Given the description of an element on the screen output the (x, y) to click on. 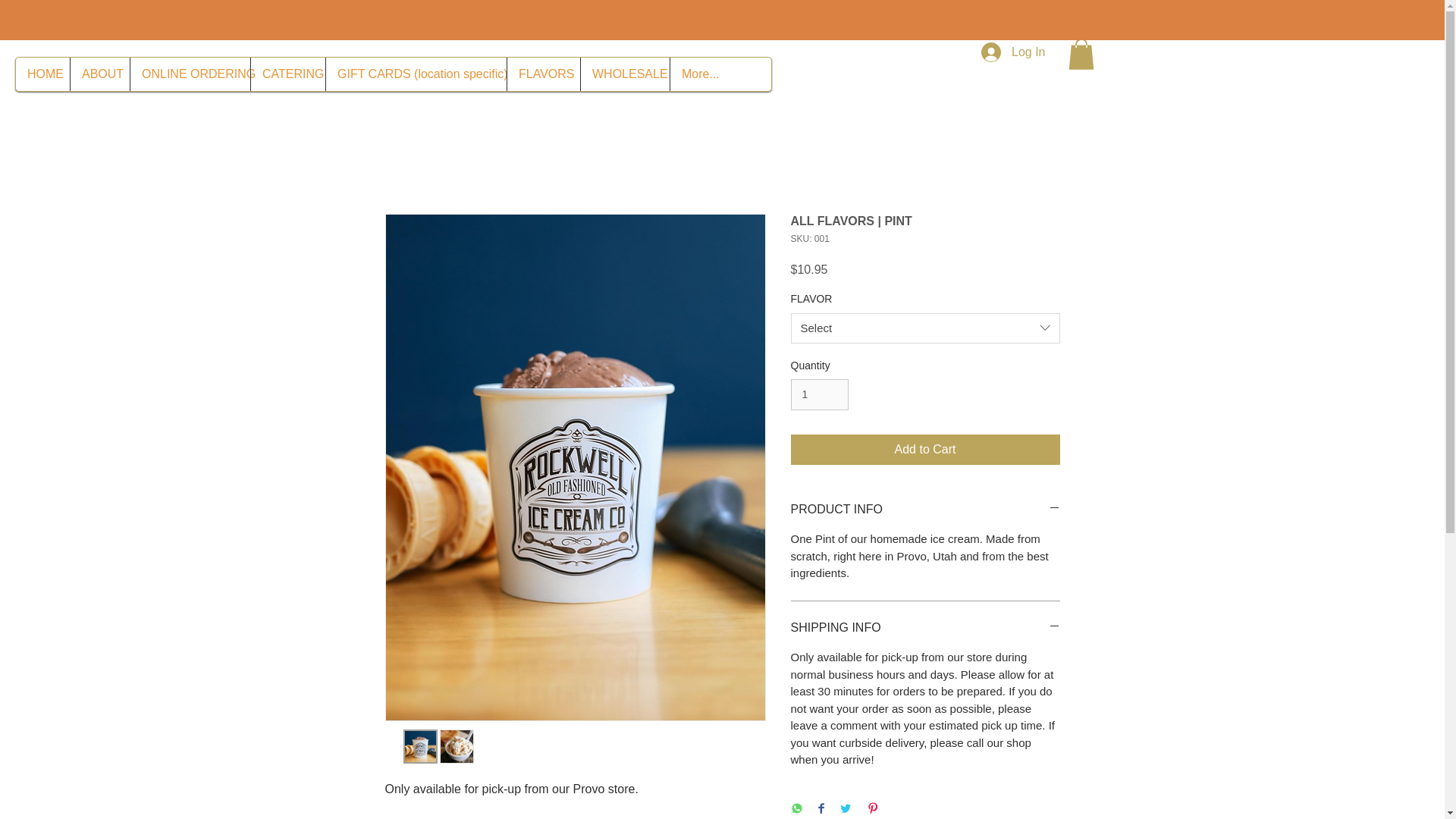
ONLINE ORDERING (189, 73)
1 (818, 394)
Add to Cart (924, 449)
FLAVORS (542, 73)
Select (924, 327)
Log In (1013, 51)
HOME (42, 73)
SHIPPING INFO (924, 627)
PRODUCT INFO (924, 509)
ABOUT (99, 73)
